Given the description of an element on the screen output the (x, y) to click on. 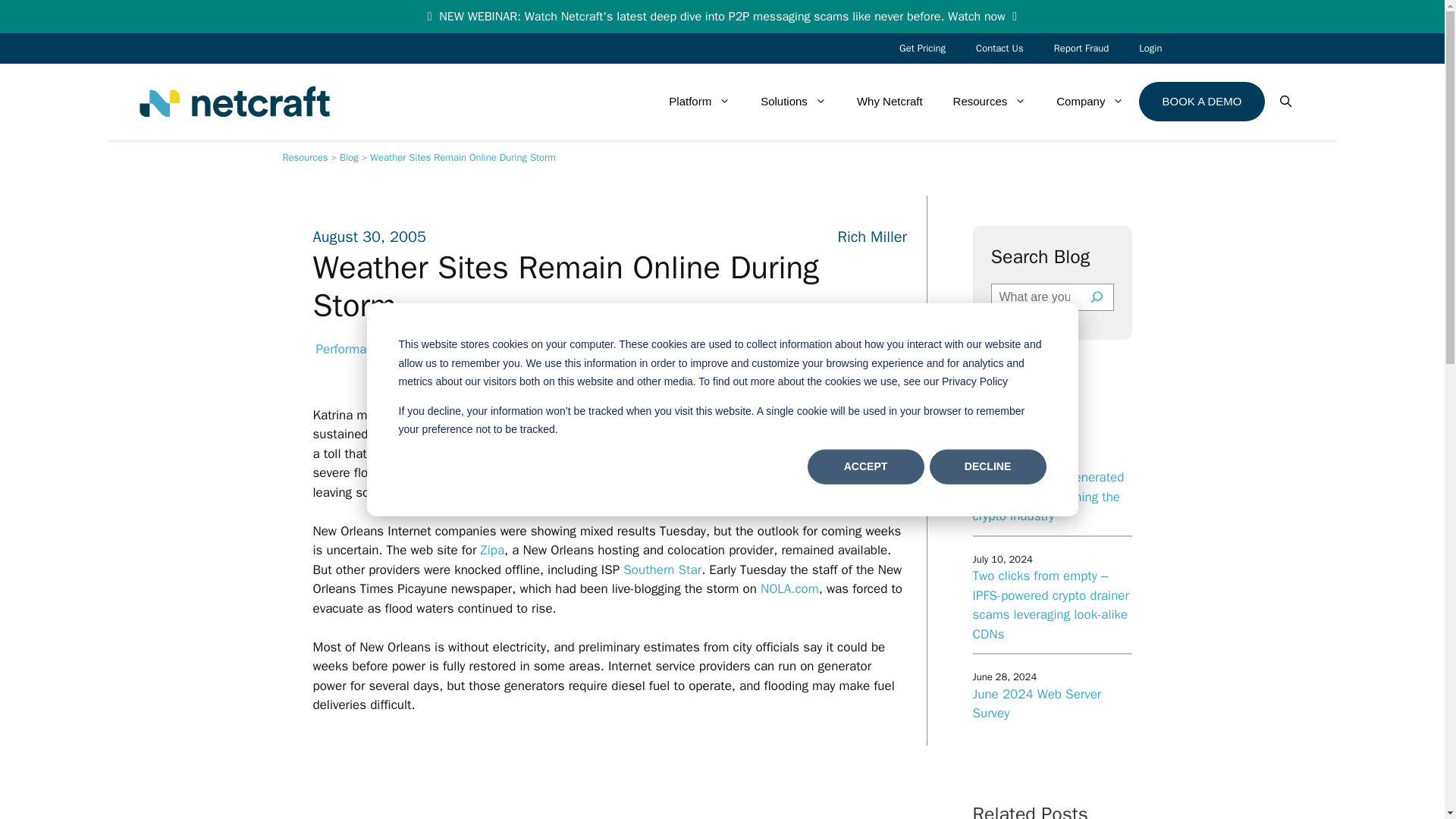
Login (1150, 48)
Share on Twitter (806, 359)
Report Fraud (1081, 48)
Blog (348, 156)
Solutions (793, 101)
Contact Us (999, 48)
Share on Email (887, 359)
Share on LinkedIn (847, 359)
Share on Facebook (767, 359)
Platform (699, 101)
Get Pricing (921, 48)
Resources (304, 156)
